Given the description of an element on the screen output the (x, y) to click on. 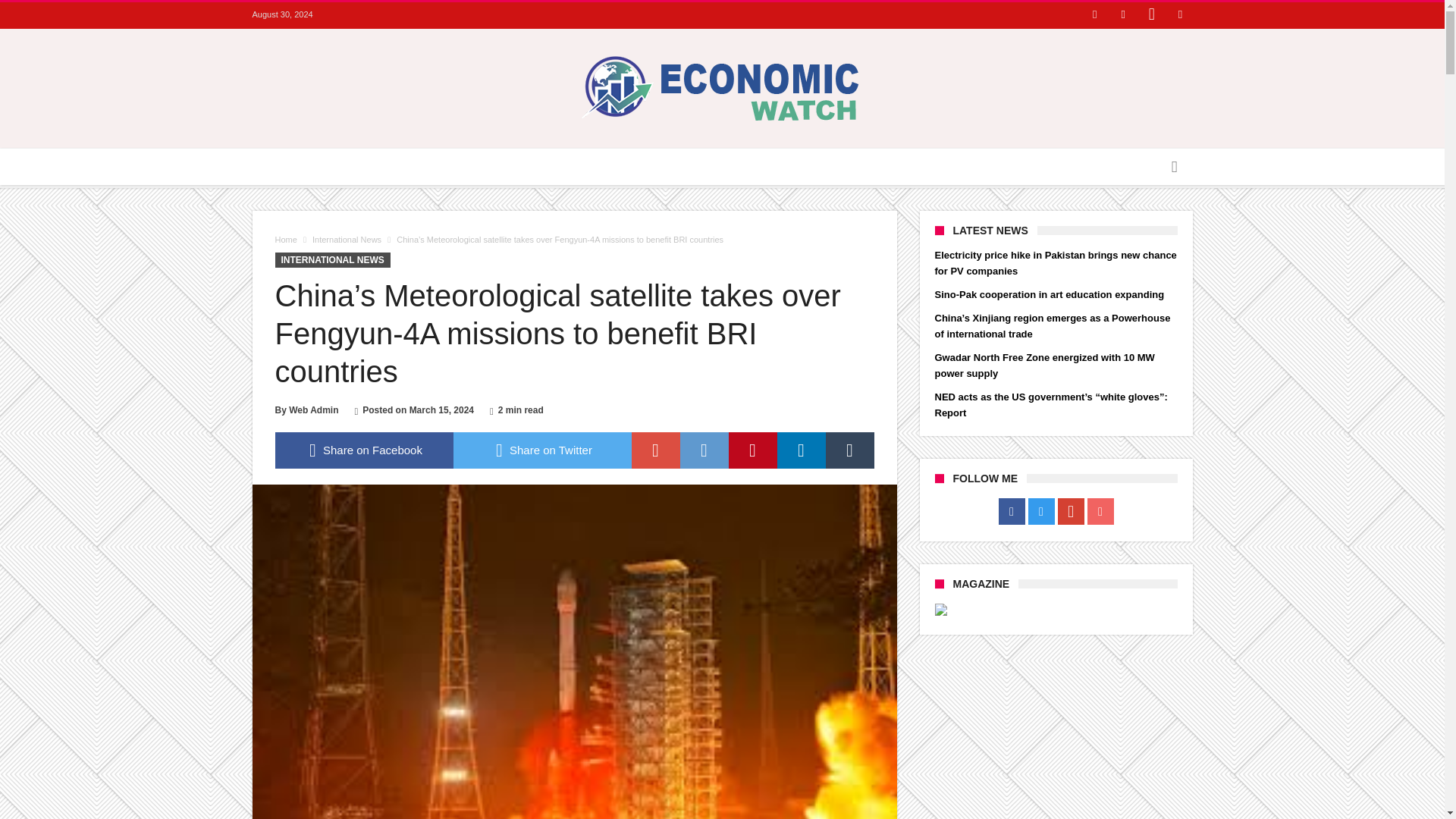
Share on Reddit (703, 450)
twitter (541, 450)
Twitter (1122, 15)
Share on Pinterest (752, 450)
INTERNATIONAL NEWS (332, 259)
Share on Facebook (363, 450)
Youtube (1179, 15)
Facebook (1094, 15)
google (654, 450)
Share on Linkedin (800, 450)
